Given the description of an element on the screen output the (x, y) to click on. 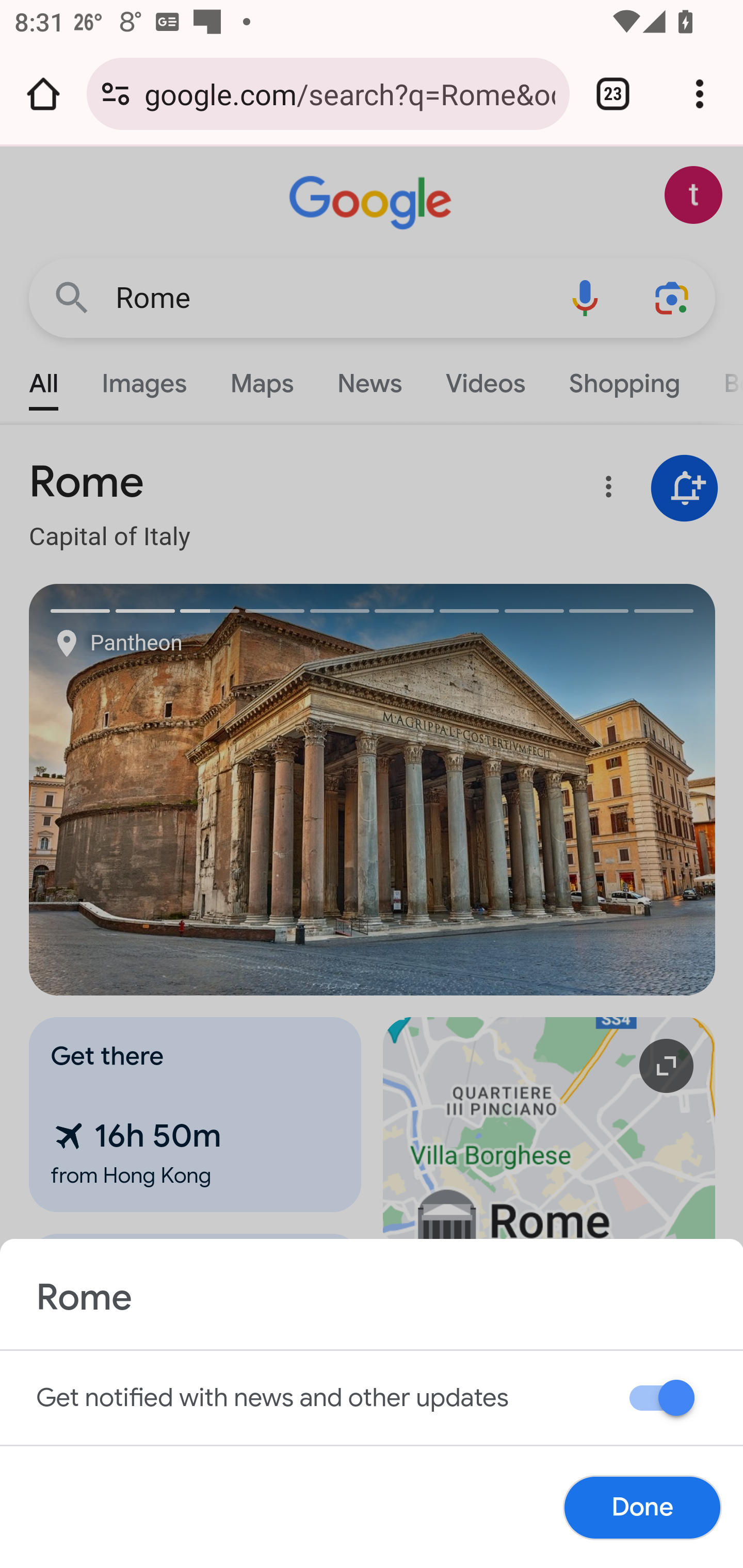
Open the home page (43, 93)
Connection is secure (115, 93)
Switch or close tabs (612, 93)
Customize and control Google Chrome (699, 93)
Get notifications about Rome (665, 1400)
Done (642, 1507)
